Given the description of an element on the screen output the (x, y) to click on. 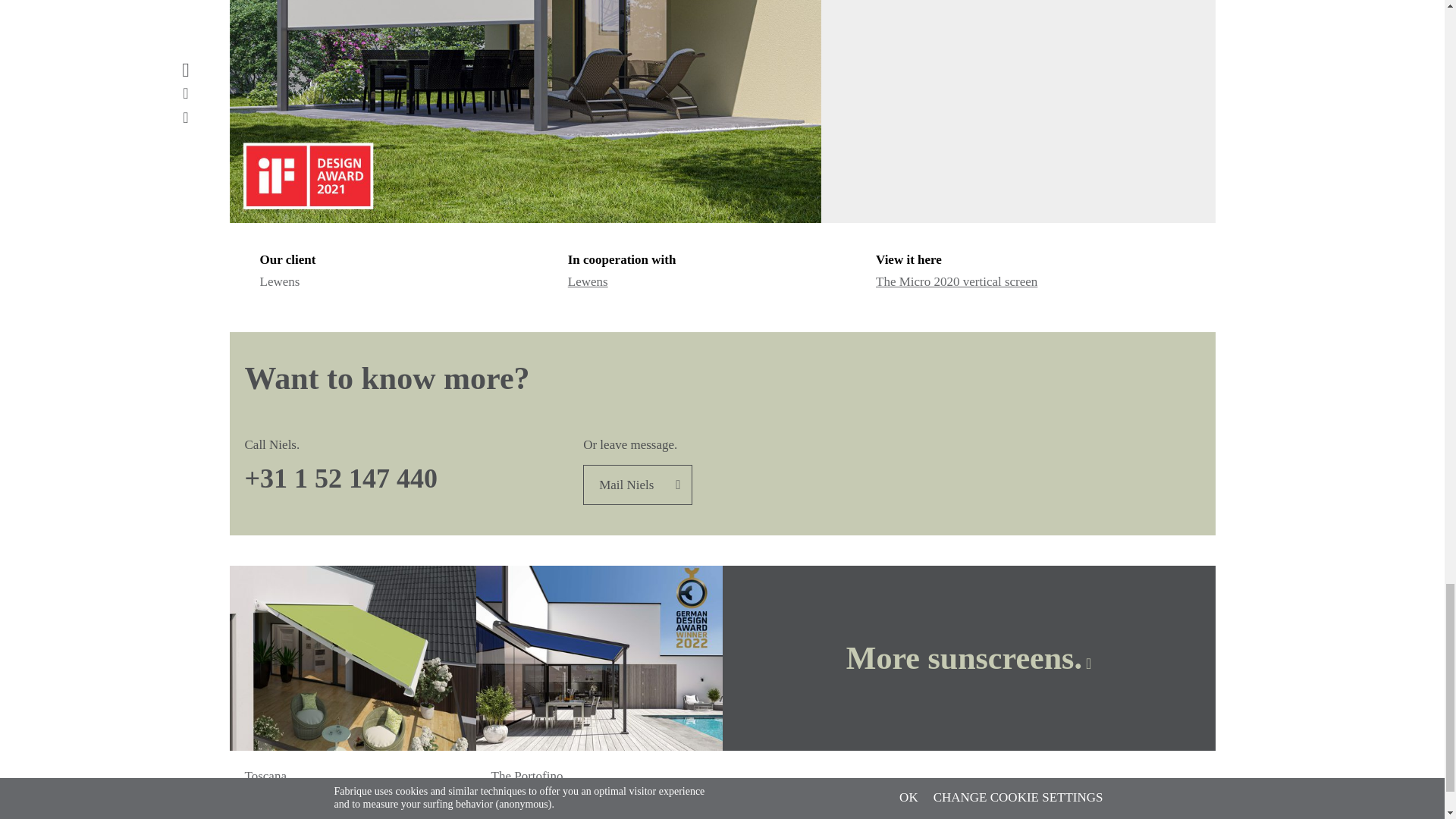
More sunscreens. (968, 658)
The Micro 2020 vertical screen (956, 281)
Lewens (587, 281)
Mail Niels (638, 485)
Folding arm awning, Toscana. (327, 794)
ZIP-based sun awning for glass roofs. (594, 794)
